Given the description of an element on the screen output the (x, y) to click on. 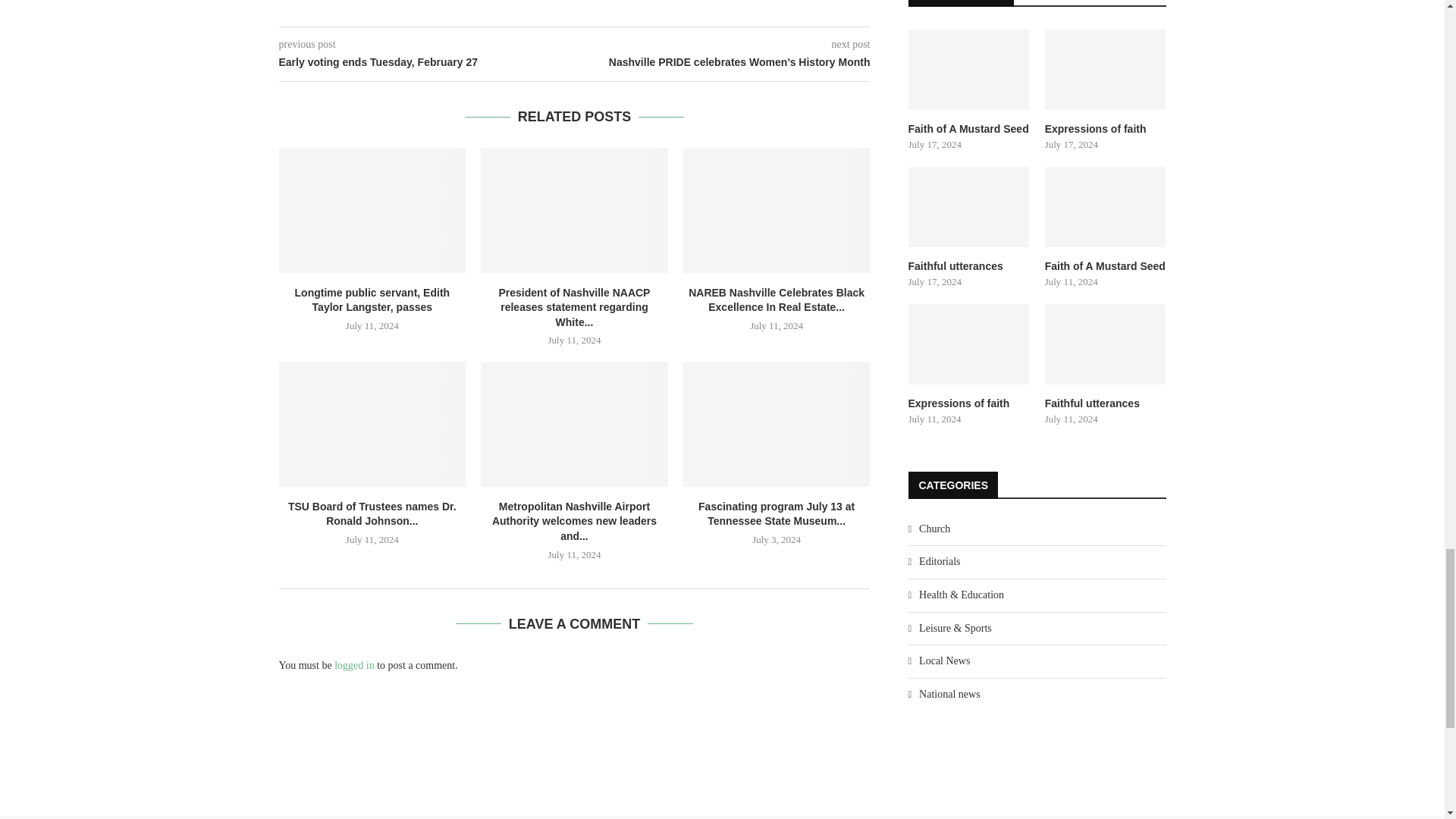
Longtime public servant, Edith Taylor Langster, passes (372, 209)
